Given the description of an element on the screen output the (x, y) to click on. 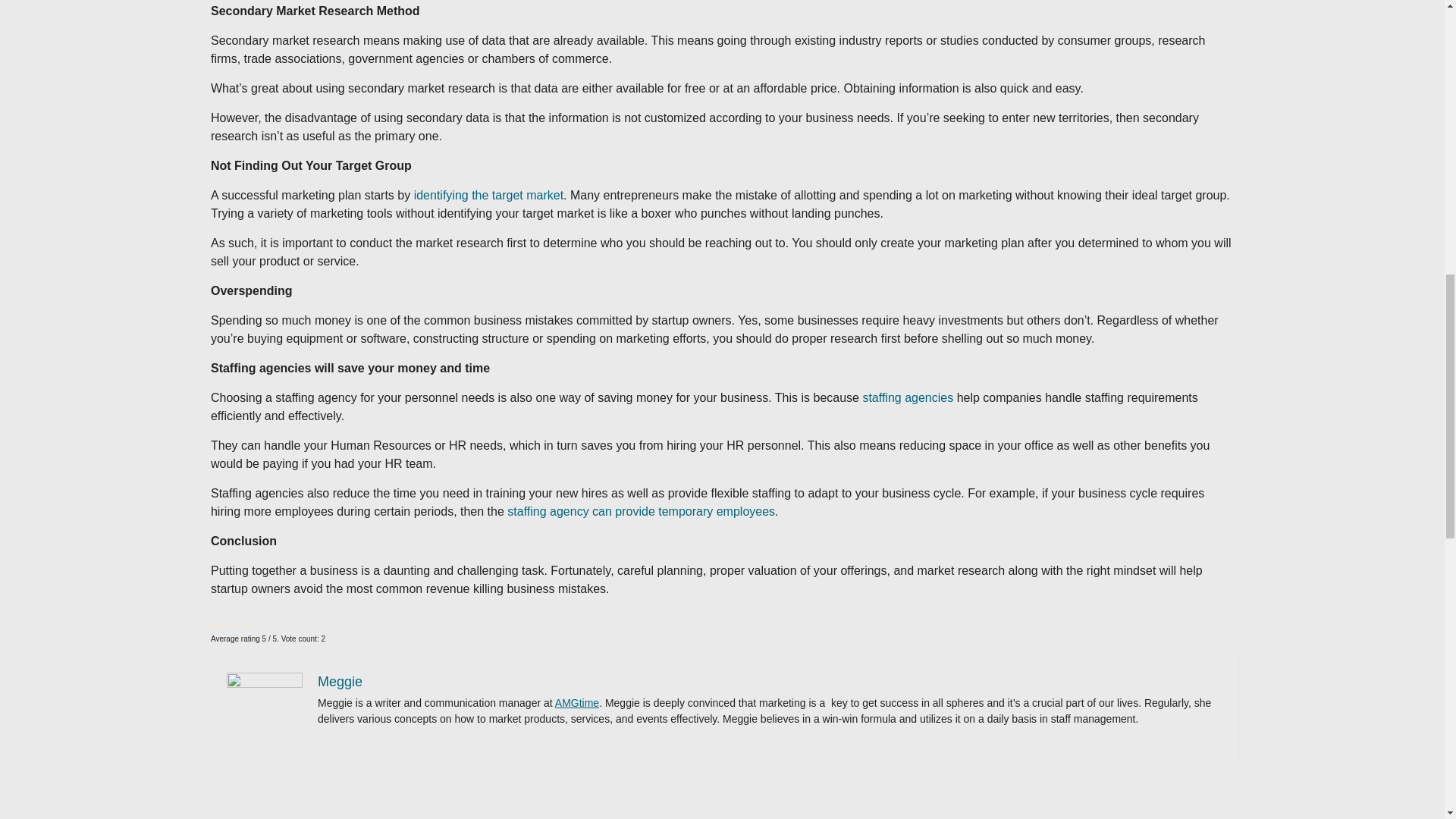
staffing agency can provide temporary employees (640, 511)
Meggie (339, 681)
identifying the target market (488, 195)
AMGtime (576, 702)
staffing agencies (907, 397)
